Given the description of an element on the screen output the (x, y) to click on. 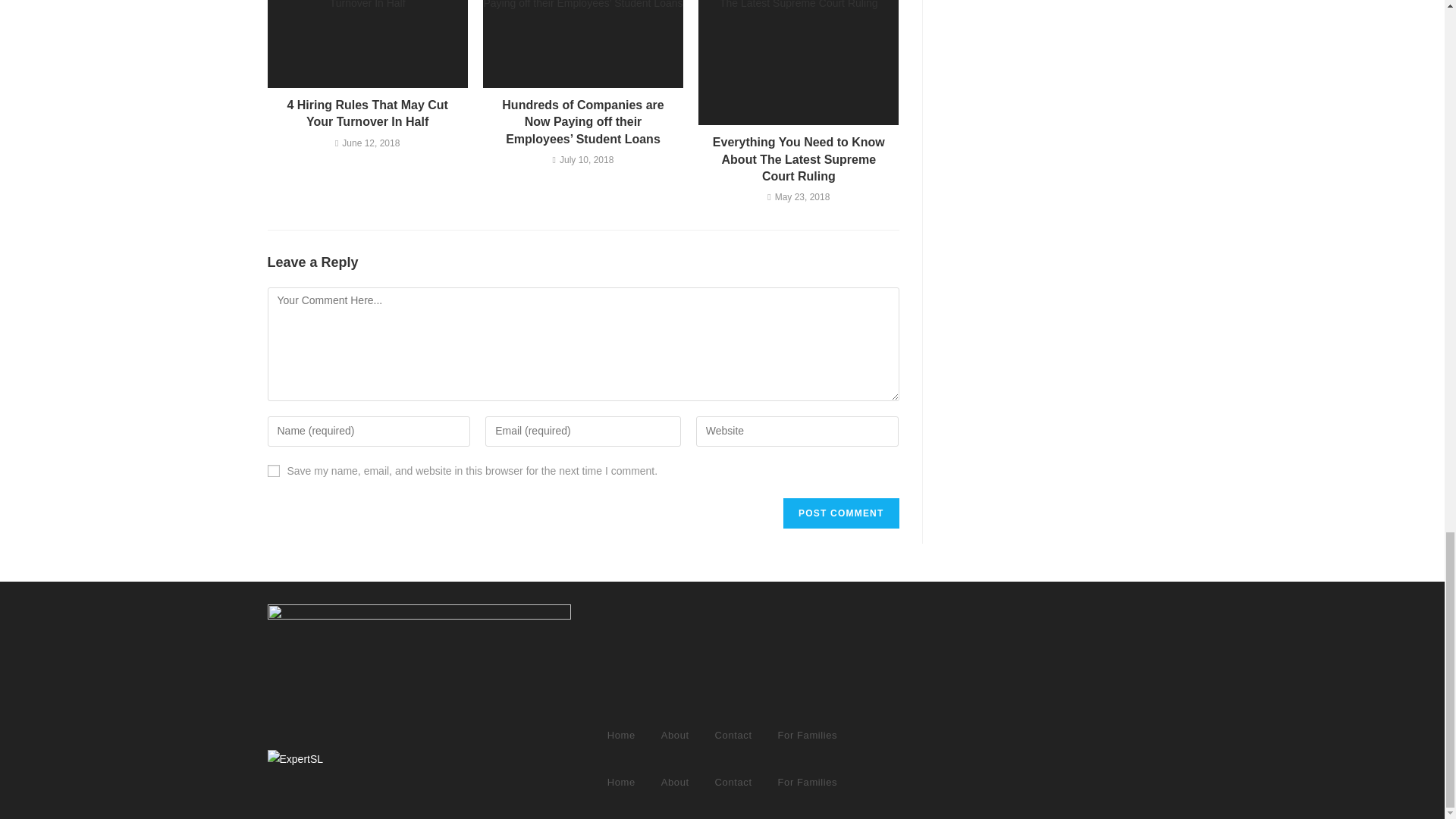
yes (272, 470)
Home (620, 735)
Contact (732, 735)
Contact (732, 782)
For Families (807, 782)
About (674, 735)
For Families (807, 735)
Home (620, 782)
